Given the description of an element on the screen output the (x, y) to click on. 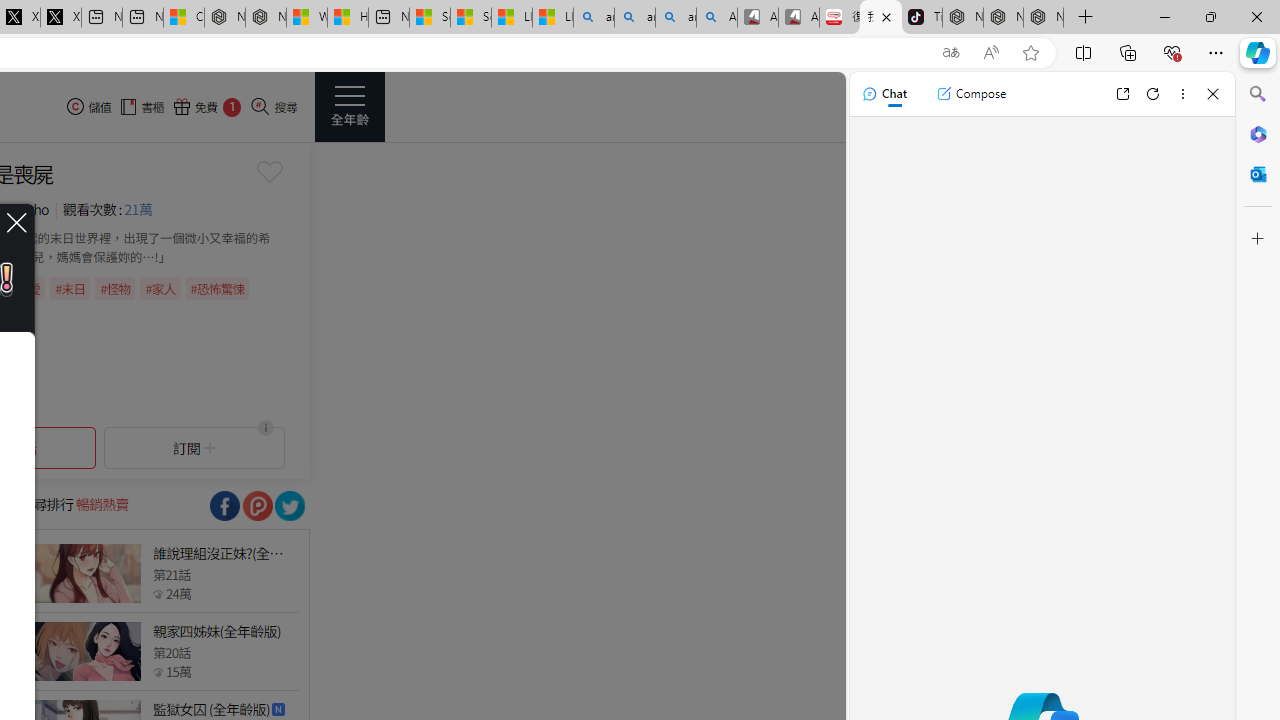
Amazon Echo Robot - Search Images (717, 17)
amazon - Search Images (675, 17)
Class: thumb_img (85, 651)
